Given the description of an element on the screen output the (x, y) to click on. 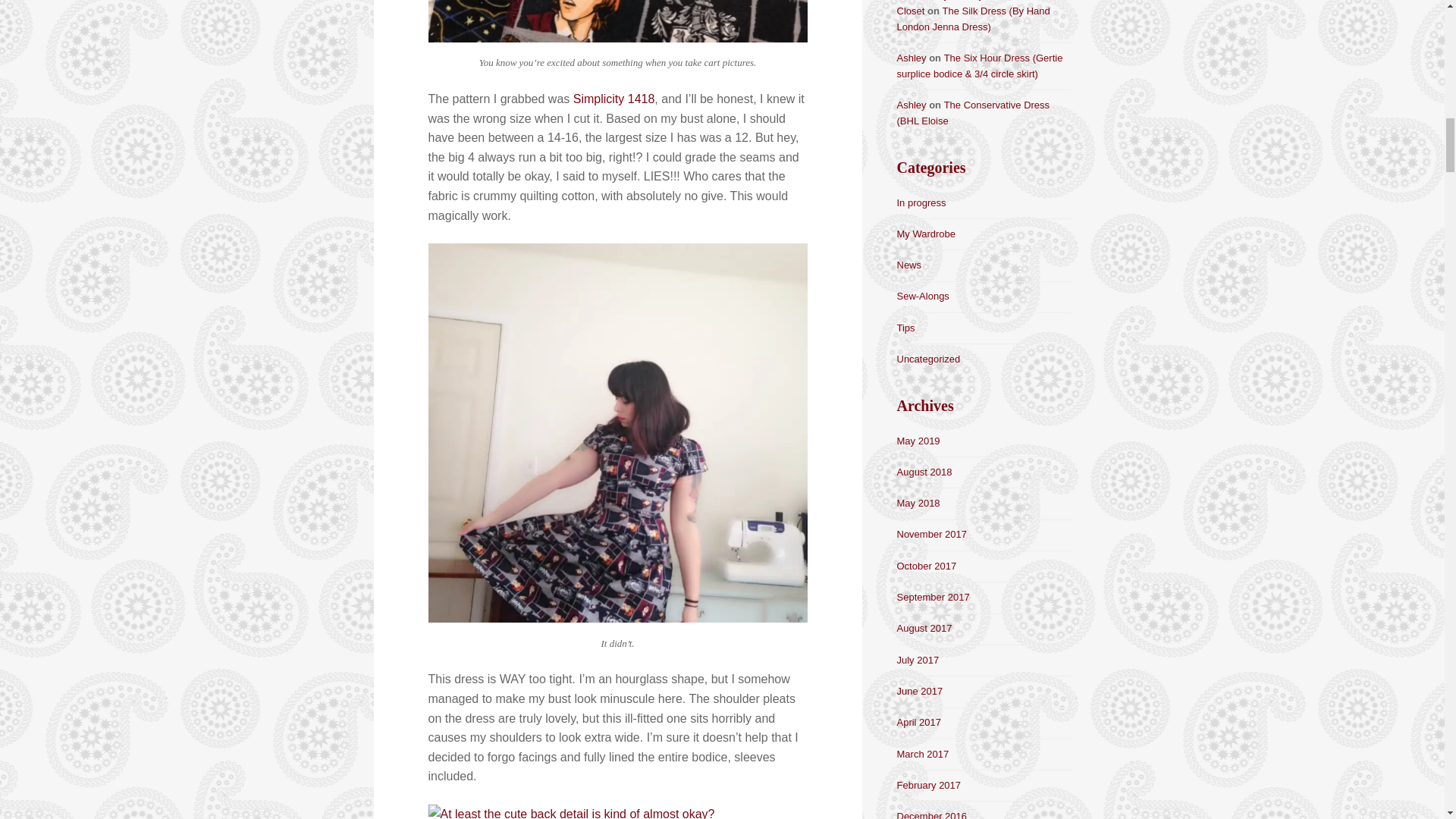
Simplicity 1418 (614, 98)
